Given the description of an element on the screen output the (x, y) to click on. 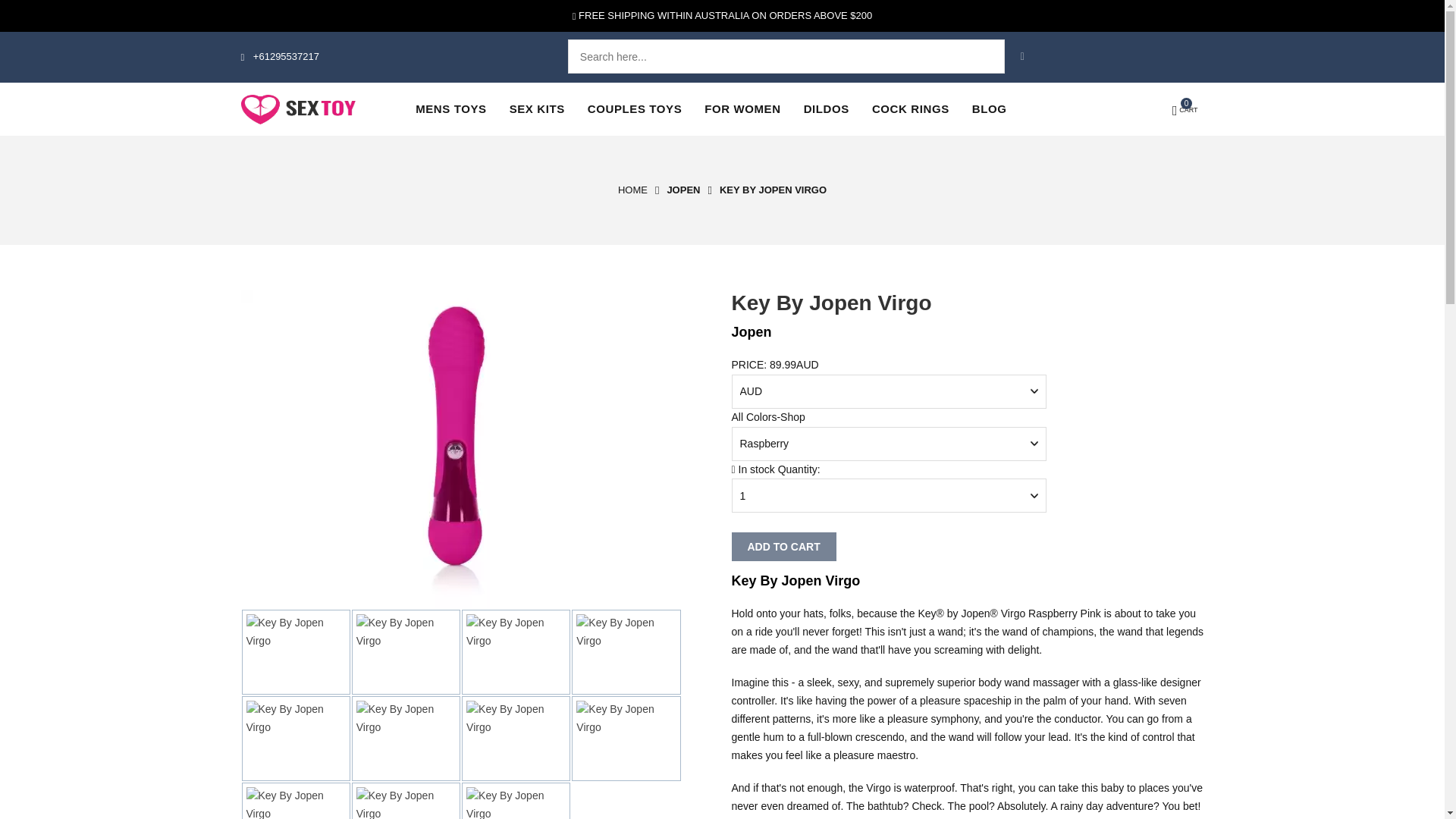
DILDOS (826, 108)
MENS TOYS (450, 108)
COCK RINGS (910, 108)
ADD TO CART (782, 546)
SEX KITS (536, 108)
toys logo (298, 109)
HOME (632, 190)
JOPEN (683, 190)
BLOG (988, 108)
KEY BY JOPEN VIRGO (773, 190)
COUPLES TOYS (634, 108)
FOR WOMEN (742, 108)
Jopen (683, 190)
Cart (1185, 110)
